Given the description of an element on the screen output the (x, y) to click on. 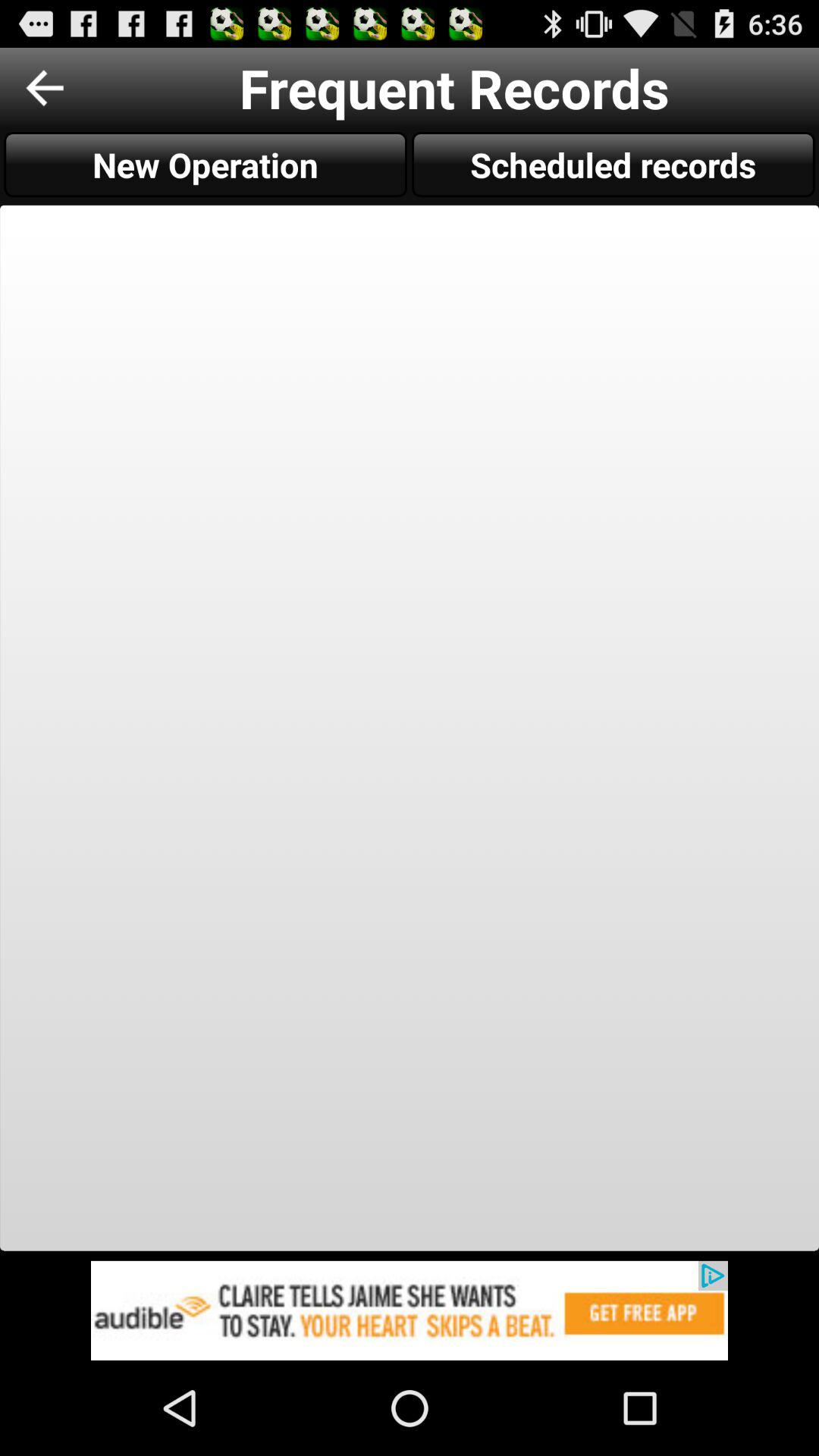
to view add (409, 1310)
